Given the description of an element on the screen output the (x, y) to click on. 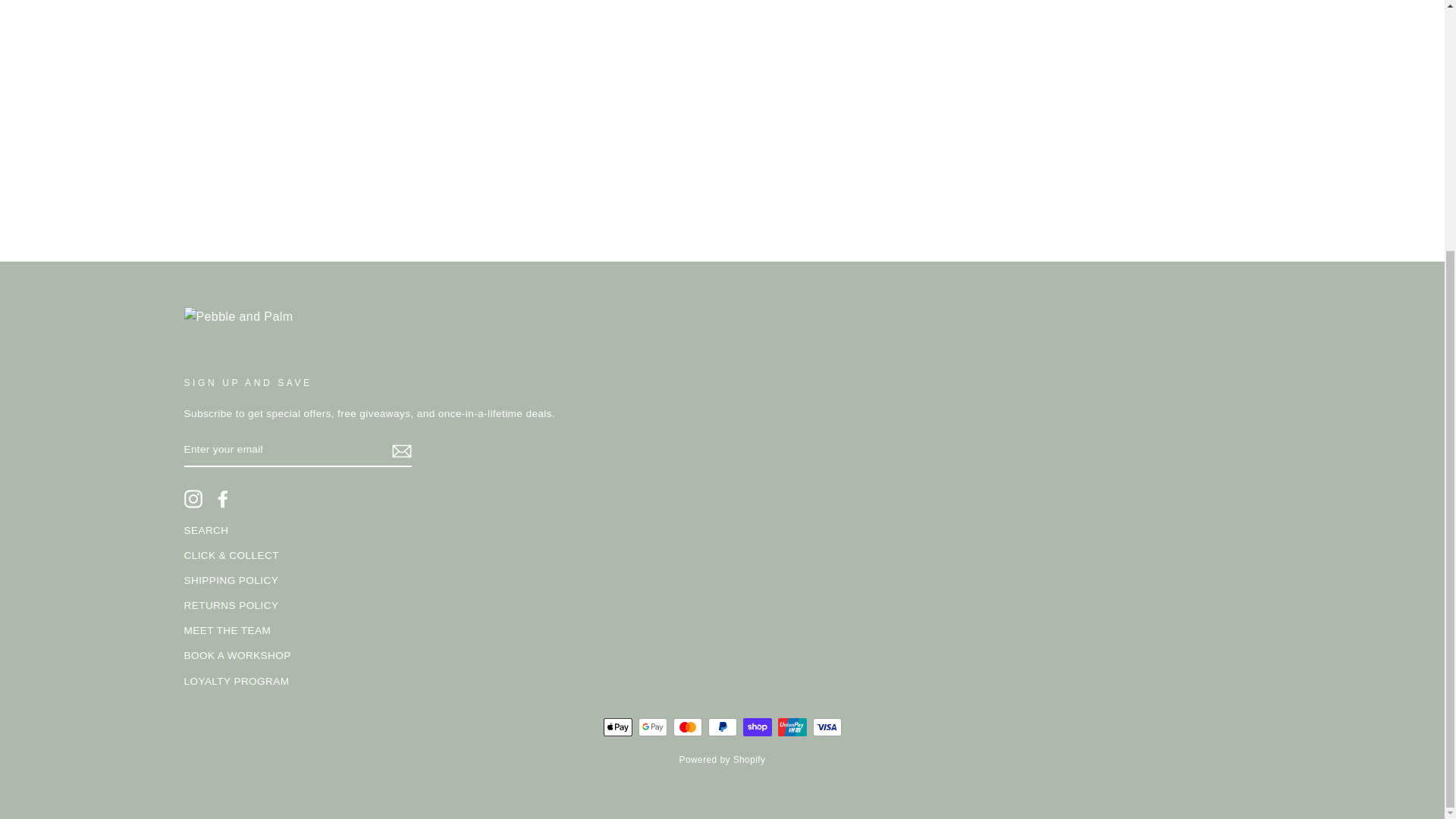
Google Pay (652, 727)
Apple Pay (617, 727)
Pebble and Palm on Facebook (222, 498)
Mastercard (686, 727)
PayPal (721, 727)
Visa (826, 727)
Pebble and Palm on Instagram (192, 498)
Union Pay (791, 727)
Shop Pay (756, 727)
